Given the description of an element on the screen output the (x, y) to click on. 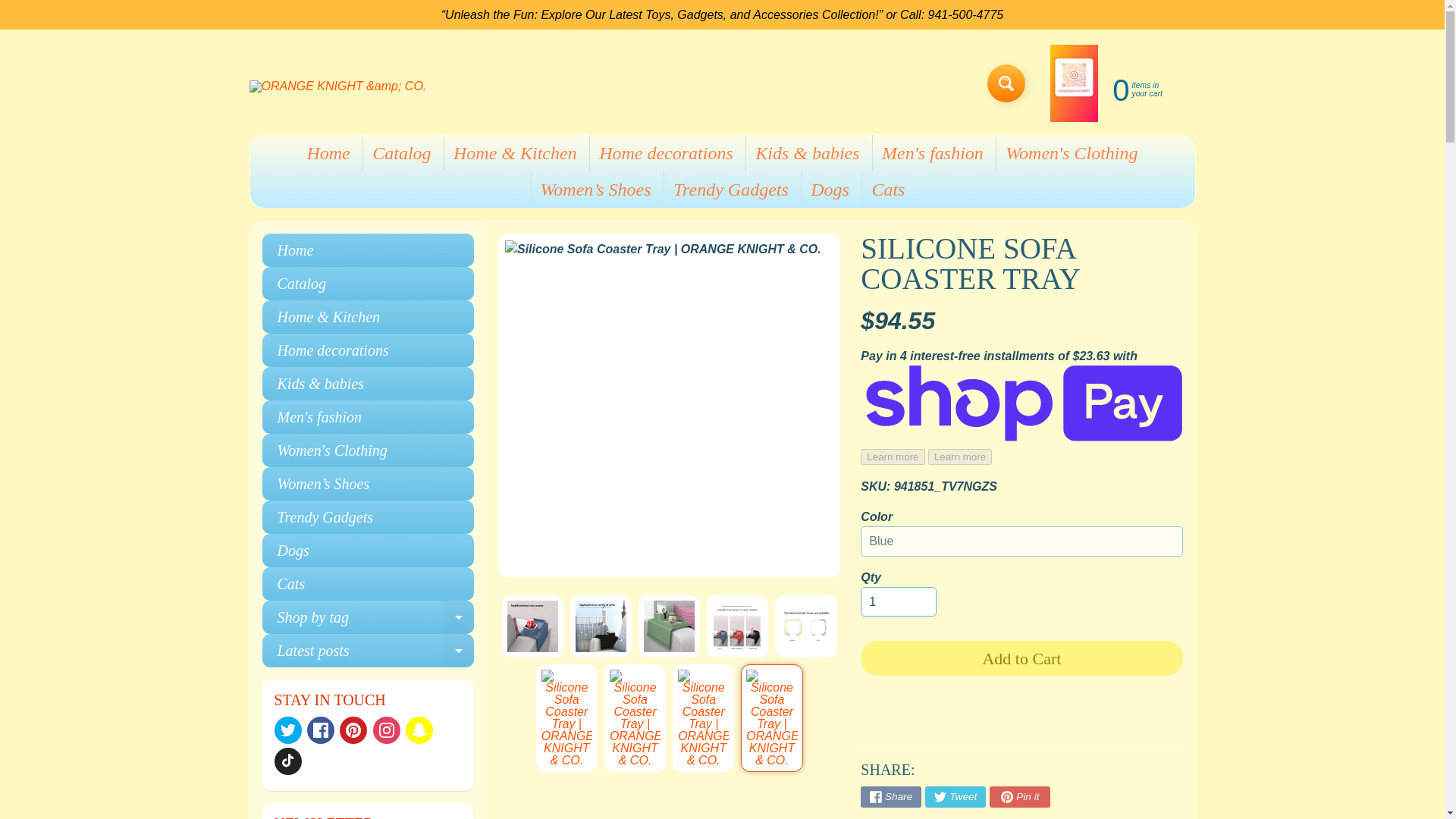
Skip to content (22, 8)
TikTok (288, 760)
Trendy Gadgets (368, 516)
Expand child menu (459, 616)
Instagram (386, 729)
Home (368, 249)
Snapchat (419, 729)
Dogs (368, 550)
Women's Clothing (1071, 153)
Home (327, 153)
